Given the description of an element on the screen output the (x, y) to click on. 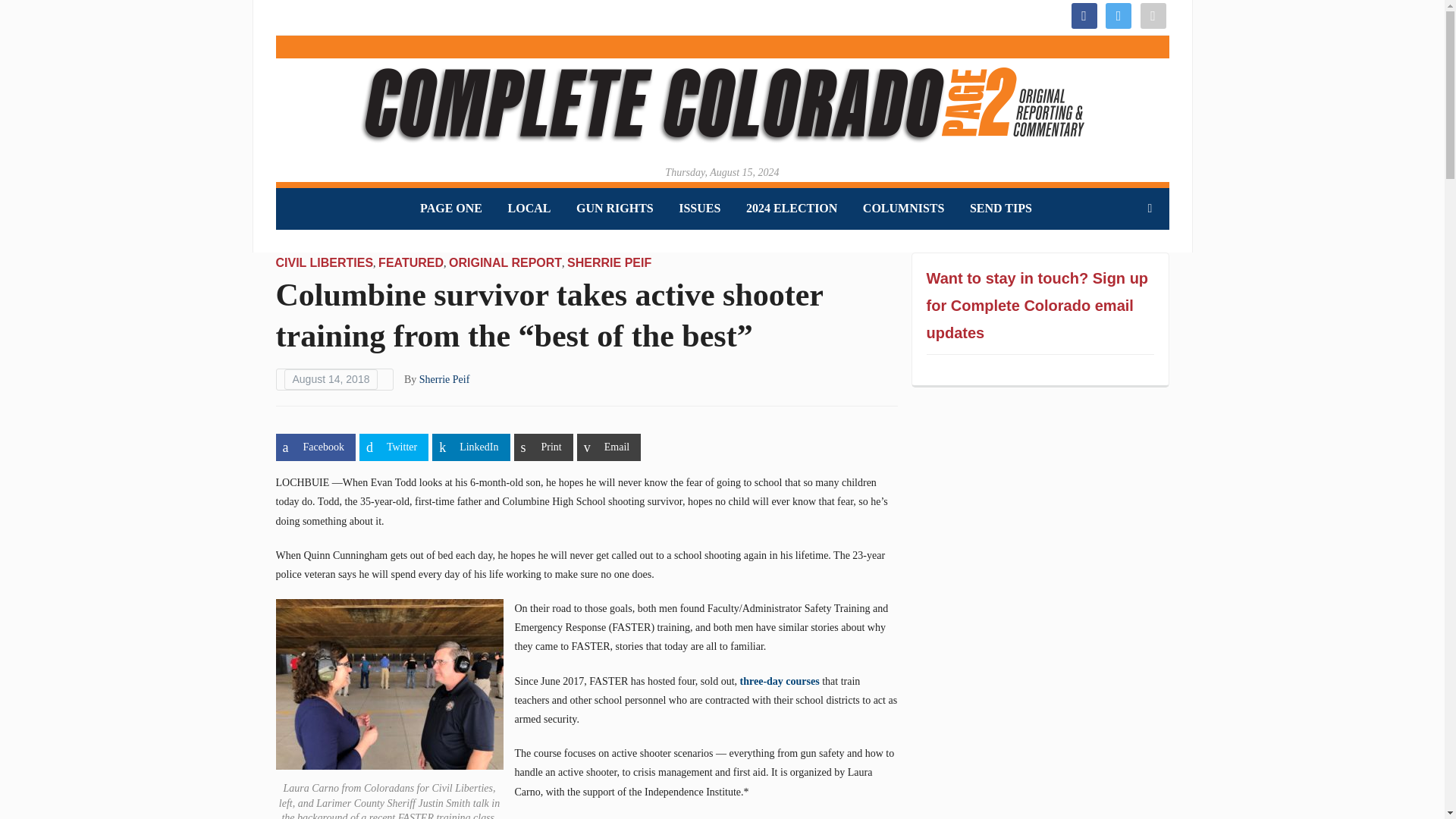
Posts by Sherrie Peif (443, 378)
Share on Twitter (393, 447)
Search (1149, 208)
Share on Email (608, 447)
Share on LinkedIn (470, 447)
mail (1153, 14)
Share on Facebook (315, 447)
Share on Print (543, 447)
facebook (1083, 14)
Twitter (1118, 14)
